Given the description of an element on the screen output the (x, y) to click on. 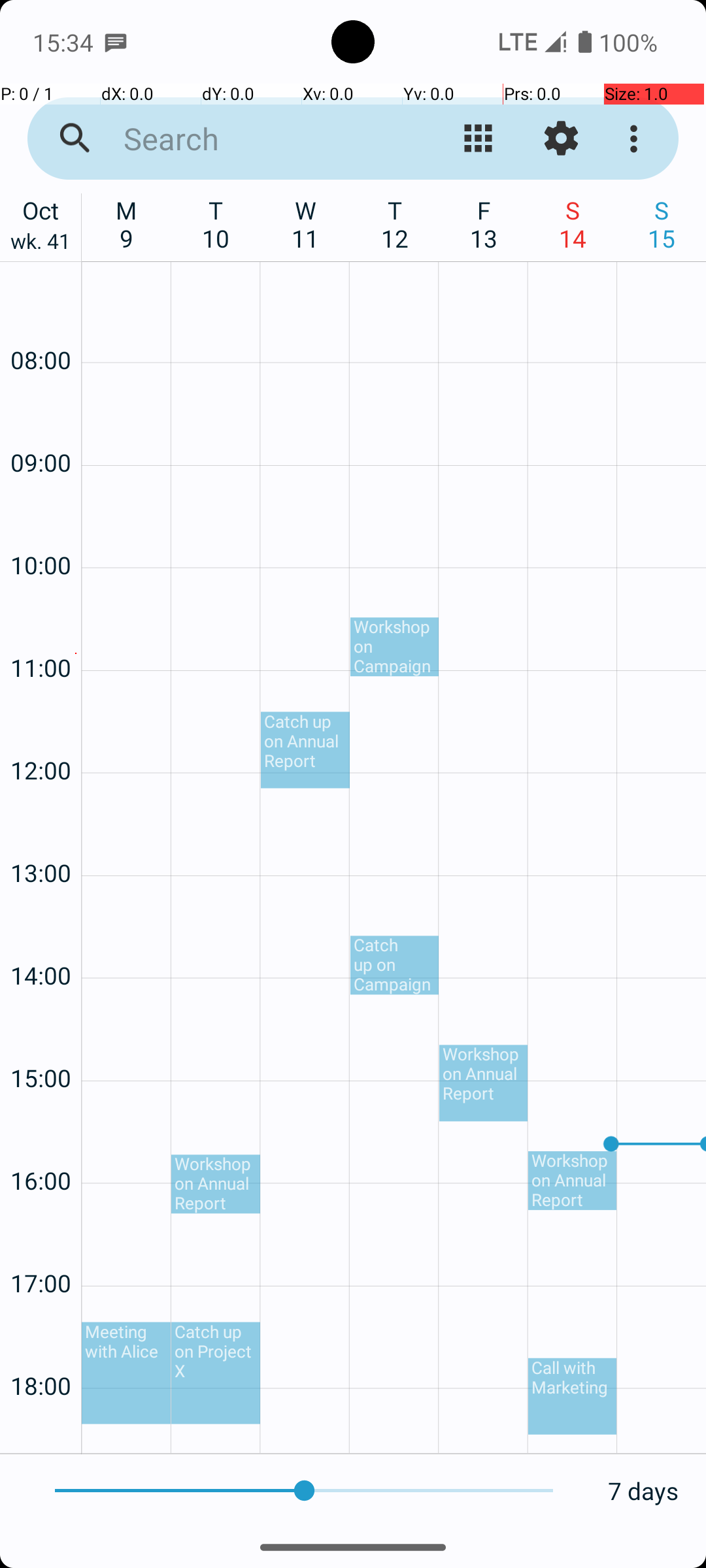
Meeting with Alice Element type: android.widget.TextView (125, 1373)
